Given the description of an element on the screen output the (x, y) to click on. 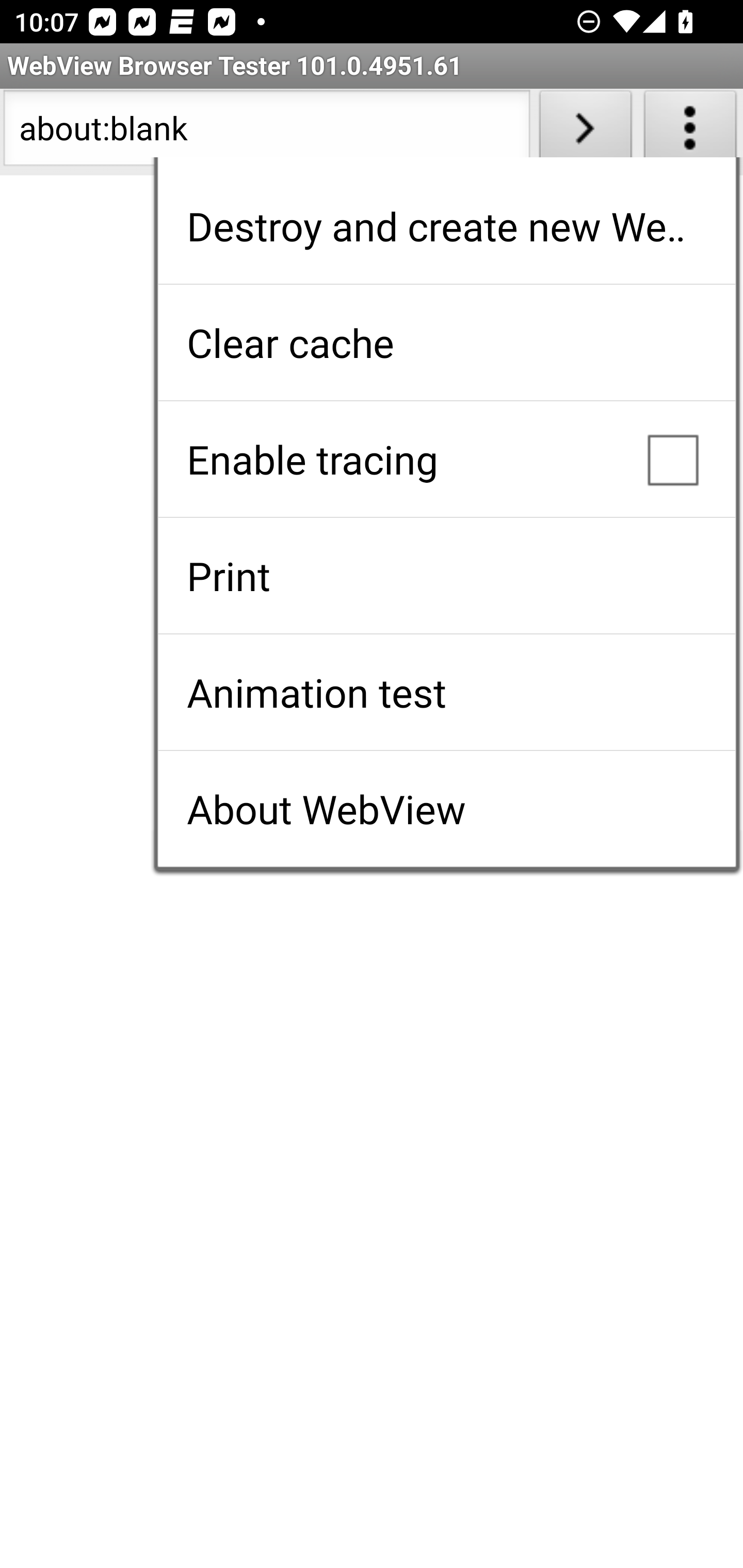
Destroy and create new WebView (446, 225)
Clear cache (446, 342)
Enable tracing (446, 459)
Print (446, 575)
Animation test (446, 692)
About WebView (446, 809)
